Given the description of an element on the screen output the (x, y) to click on. 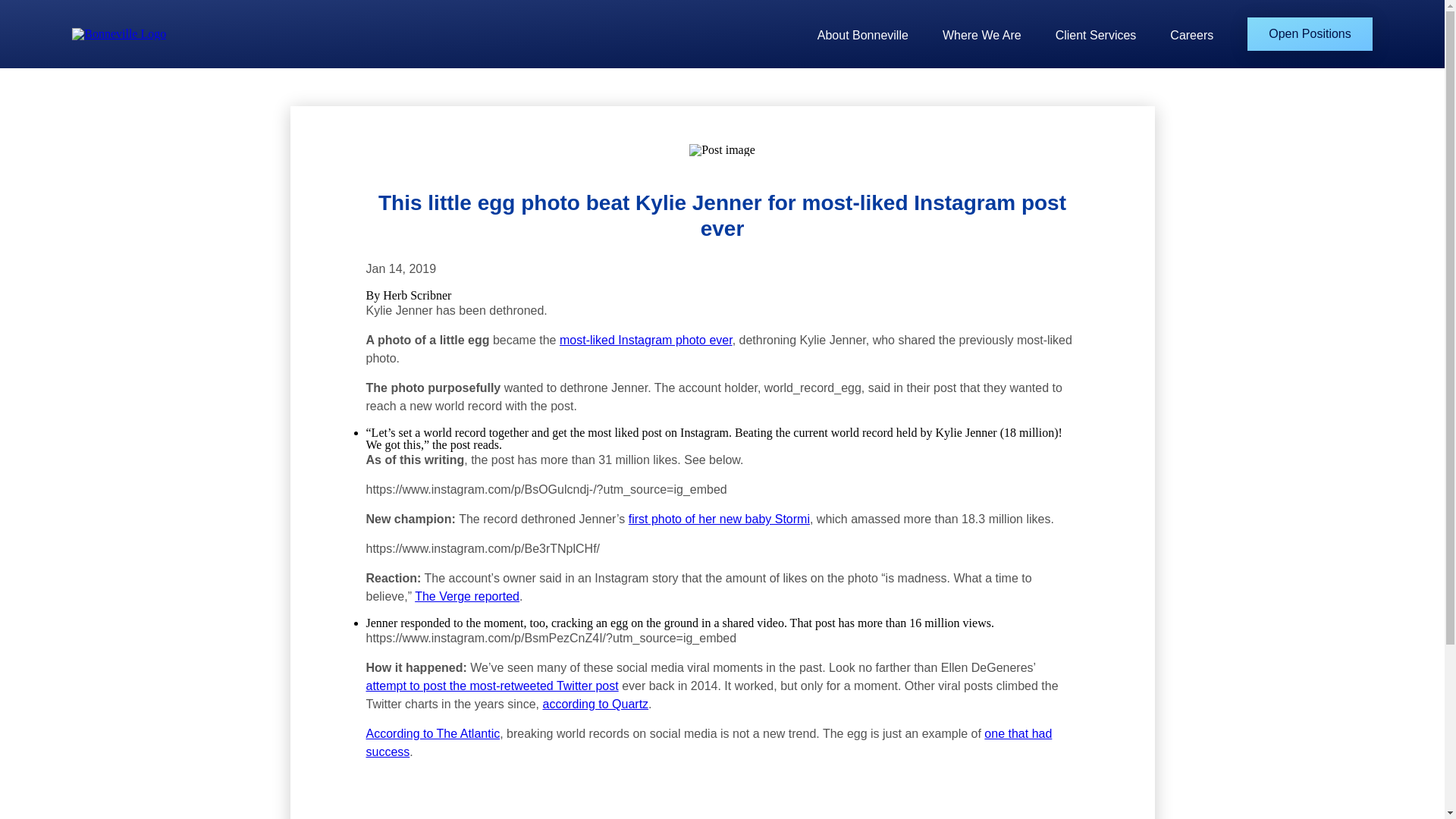
Client Services (1096, 35)
About Bonneville (862, 35)
attempt to post the most-retweeted Twitter post (491, 685)
Careers (1191, 35)
Open Positions (1310, 33)
first photo of her new baby Stormi (718, 518)
The Verge reported (466, 595)
According to The Atlantic (432, 733)
most-liked Instagram photo ever (645, 339)
Where We Are (982, 35)
